Given the description of an element on the screen output the (x, y) to click on. 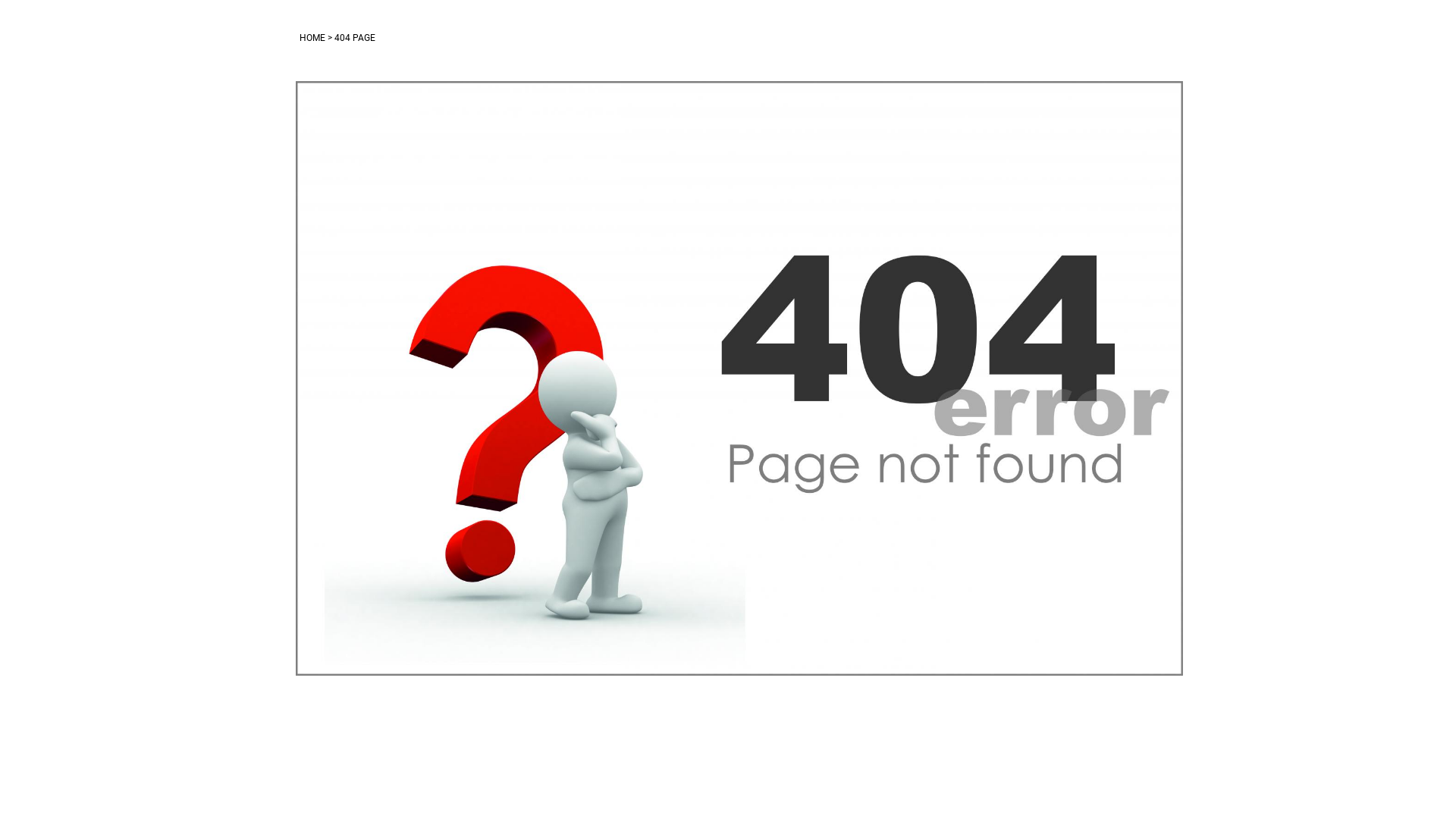
HOME Element type: text (312, 37)
